Given the description of an element on the screen output the (x, y) to click on. 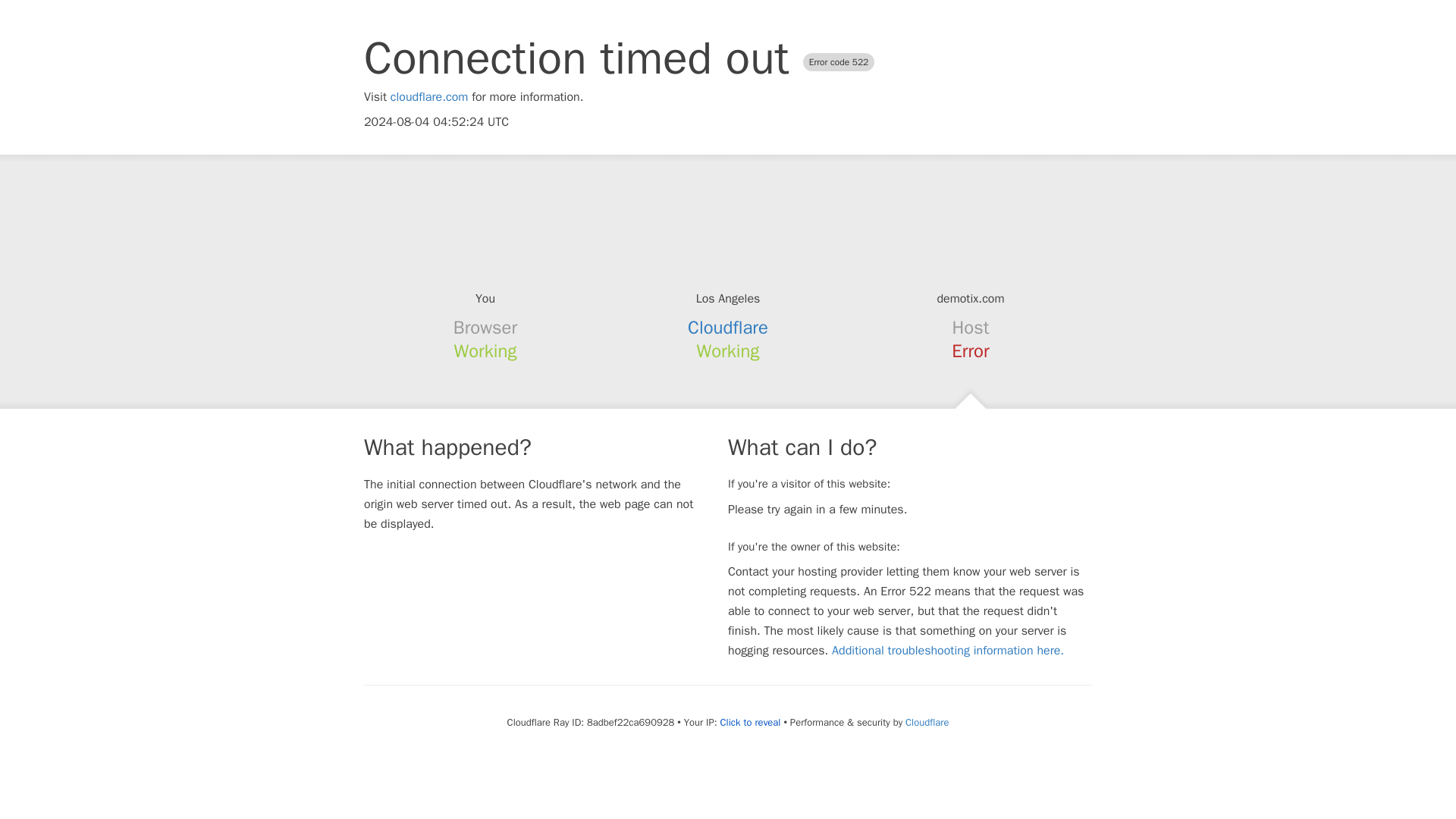
Cloudflare (727, 327)
cloudflare.com (429, 96)
Additional troubleshooting information here. (947, 650)
Cloudflare (927, 721)
Click to reveal (750, 722)
